Given the description of an element on the screen output the (x, y) to click on. 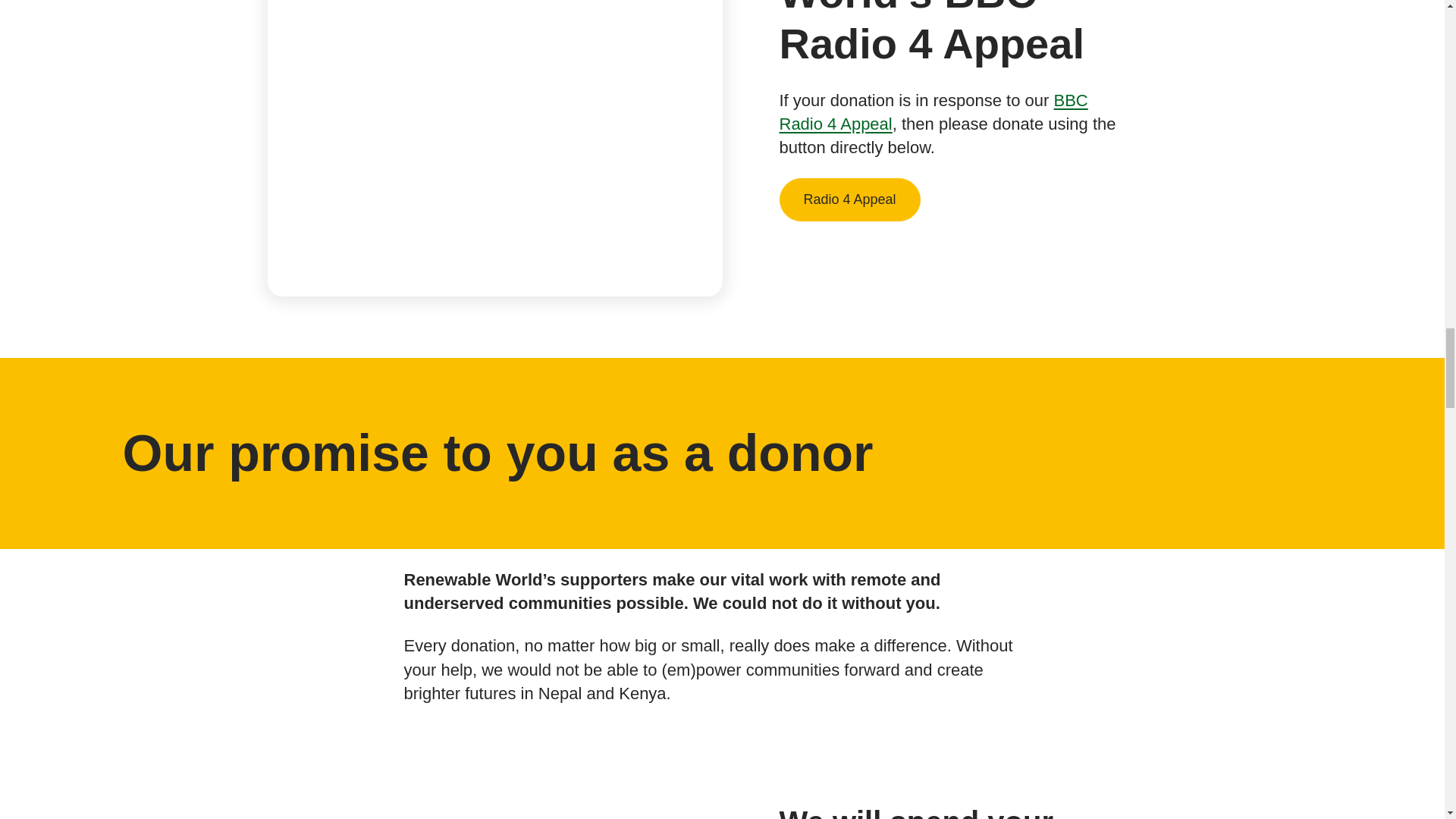
Radio 4 Appeal (849, 199)
BBC Radio 4 Appeal (932, 111)
Sumitra, as featured in Renewable World's BBC Radio 4 Appeal (494, 90)
